Given the description of an element on the screen output the (x, y) to click on. 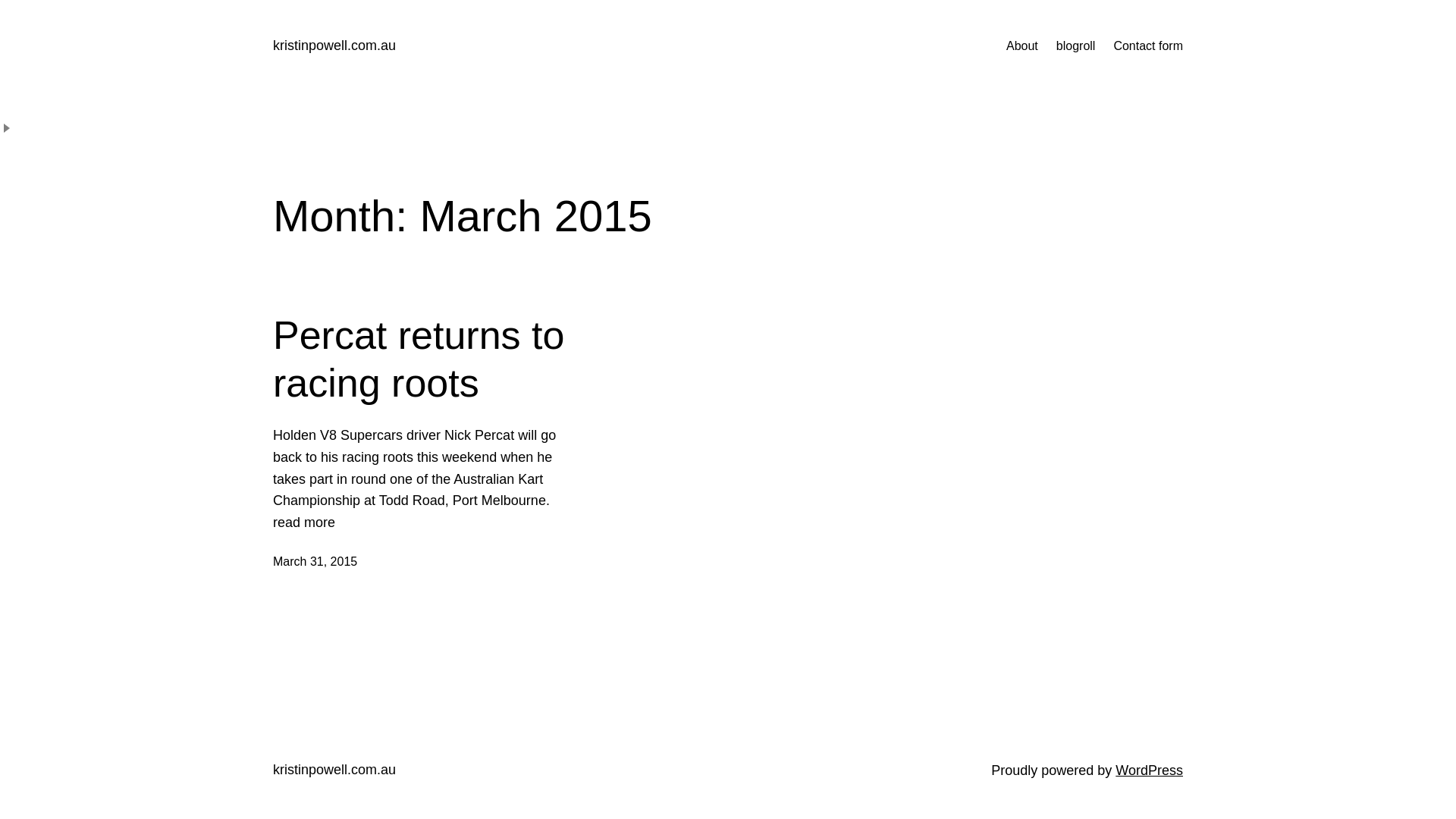
kristinpowell.com.au Element type: text (334, 45)
WordPress Element type: text (1149, 770)
Contact form Element type: text (1148, 46)
Percat returns to racing roots Element type: text (418, 358)
kristinpowell.com.au Element type: text (334, 769)
March 31, 2015 Element type: text (315, 561)
About Element type: text (1022, 46)
blogroll Element type: text (1075, 46)
